Given the description of an element on the screen output the (x, y) to click on. 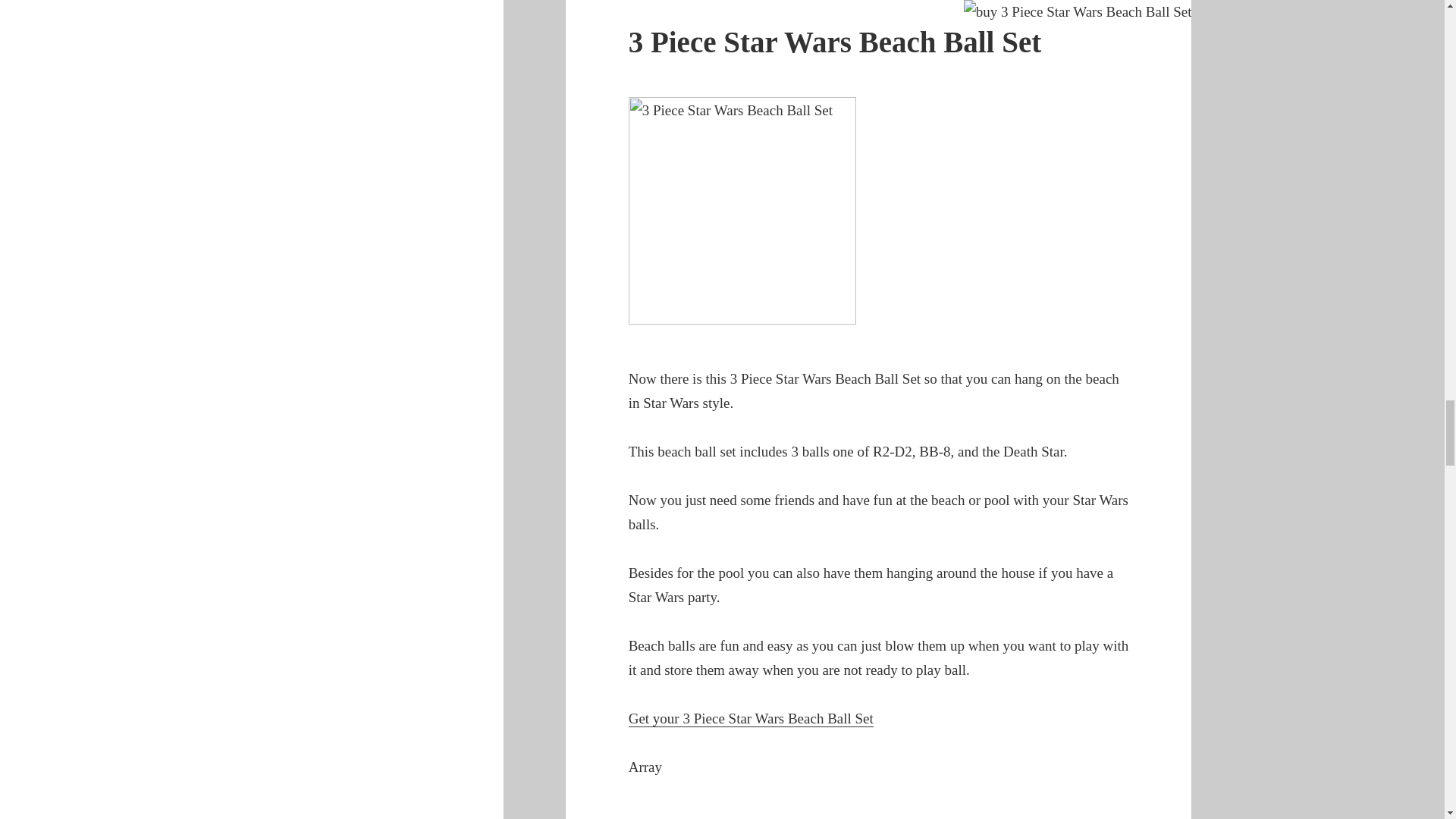
buy 3 Piece Star Wars Beach Ball Set (1077, 12)
